Given the description of an element on the screen output the (x, y) to click on. 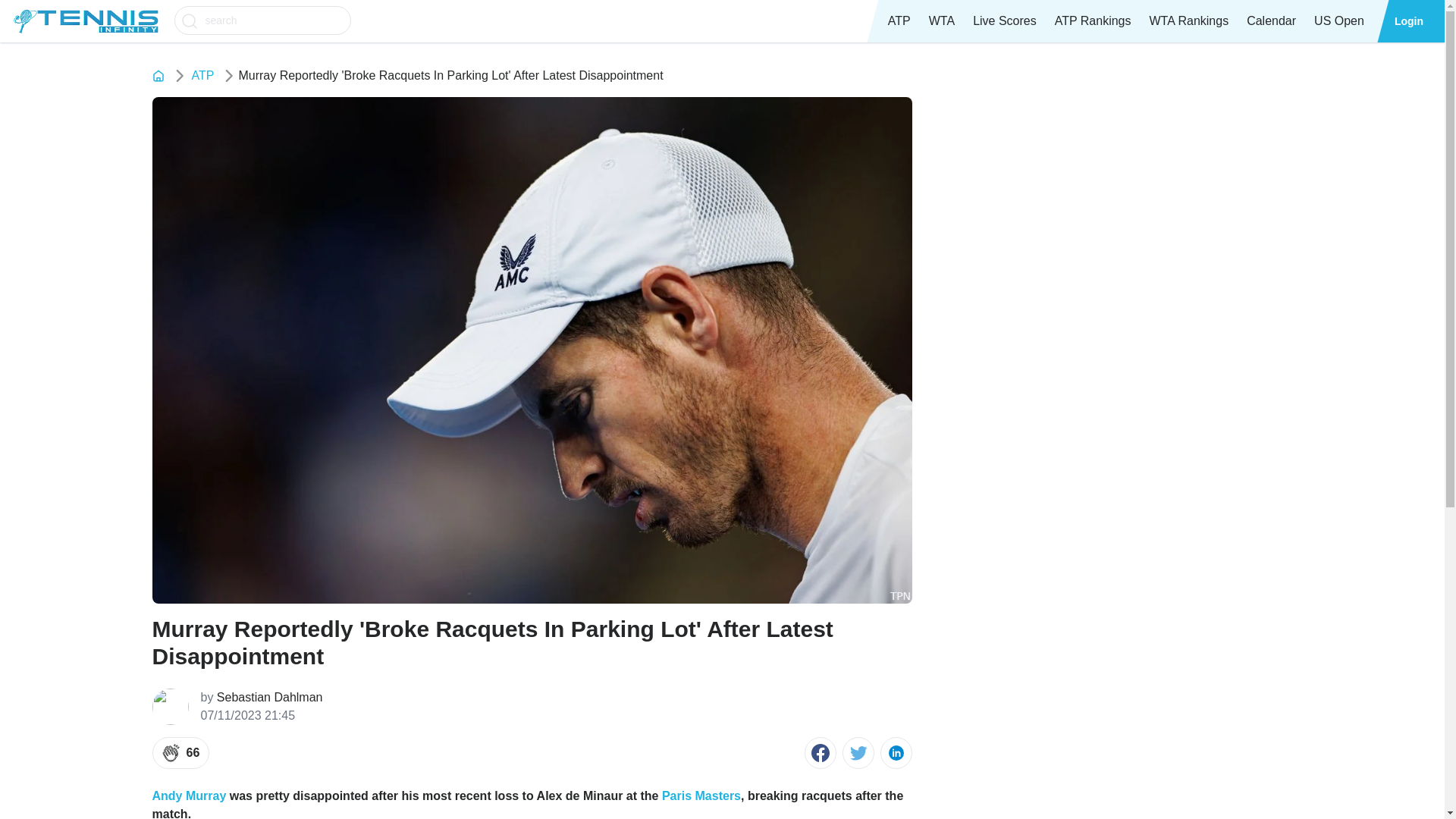
Andy Murray (188, 795)
Paris Masters (701, 795)
ATP (202, 75)
ATP Rankings (1092, 21)
Calendar (1270, 21)
ATP (899, 21)
WTA (941, 21)
WTA Rankings (1189, 21)
Login (1409, 20)
Paris Masters (701, 795)
